Given the description of an element on the screen output the (x, y) to click on. 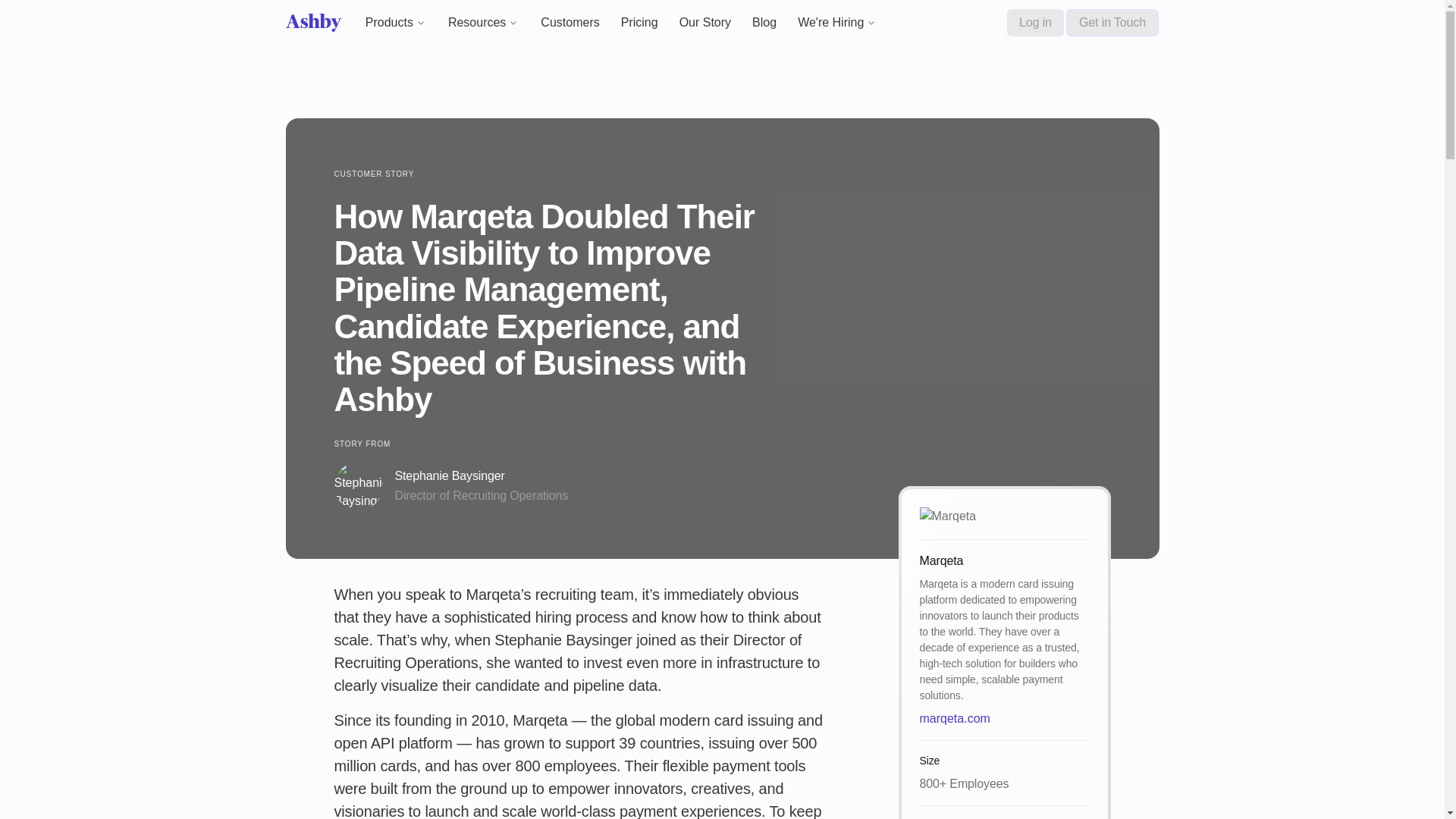
Our Story (704, 21)
Products (395, 22)
Log in (1035, 22)
Blog (764, 21)
marqeta.com (1003, 719)
Pricing (638, 21)
Get in Touch (1111, 22)
Customers (569, 21)
Resources (483, 22)
We're Hiring (837, 22)
